Given the description of an element on the screen output the (x, y) to click on. 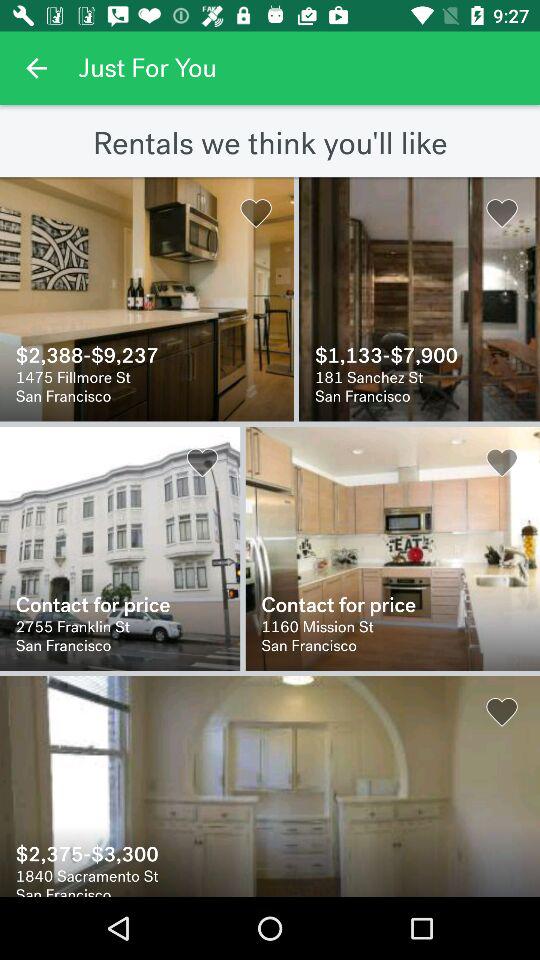
go back (36, 68)
